Given the description of an element on the screen output the (x, y) to click on. 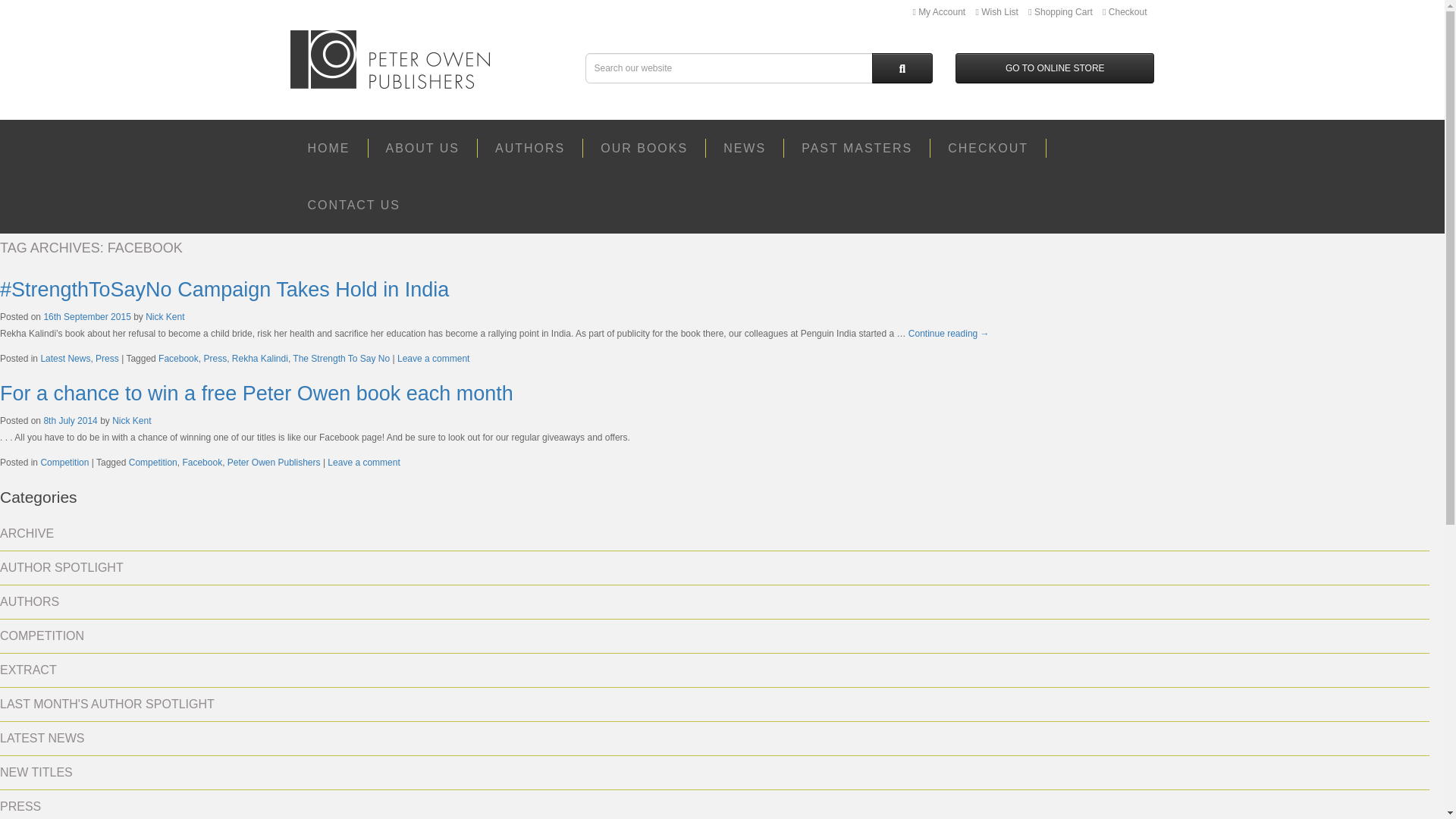
Shopping Cart (1059, 11)
Shopping Cart (1059, 11)
OUR BOOKS (644, 148)
16th September 2015 (87, 317)
Checkout (1124, 11)
Latest News (65, 357)
NEWS (745, 148)
My Account (938, 11)
View all posts by Nick Kent (131, 420)
CONTACT US (353, 204)
8th July 2014 (70, 420)
Nick Kent (131, 420)
Nick Kent (164, 317)
For a chance to win a free Peter Owen book each month (256, 393)
9:12 am (87, 317)
